Given the description of an element on the screen output the (x, y) to click on. 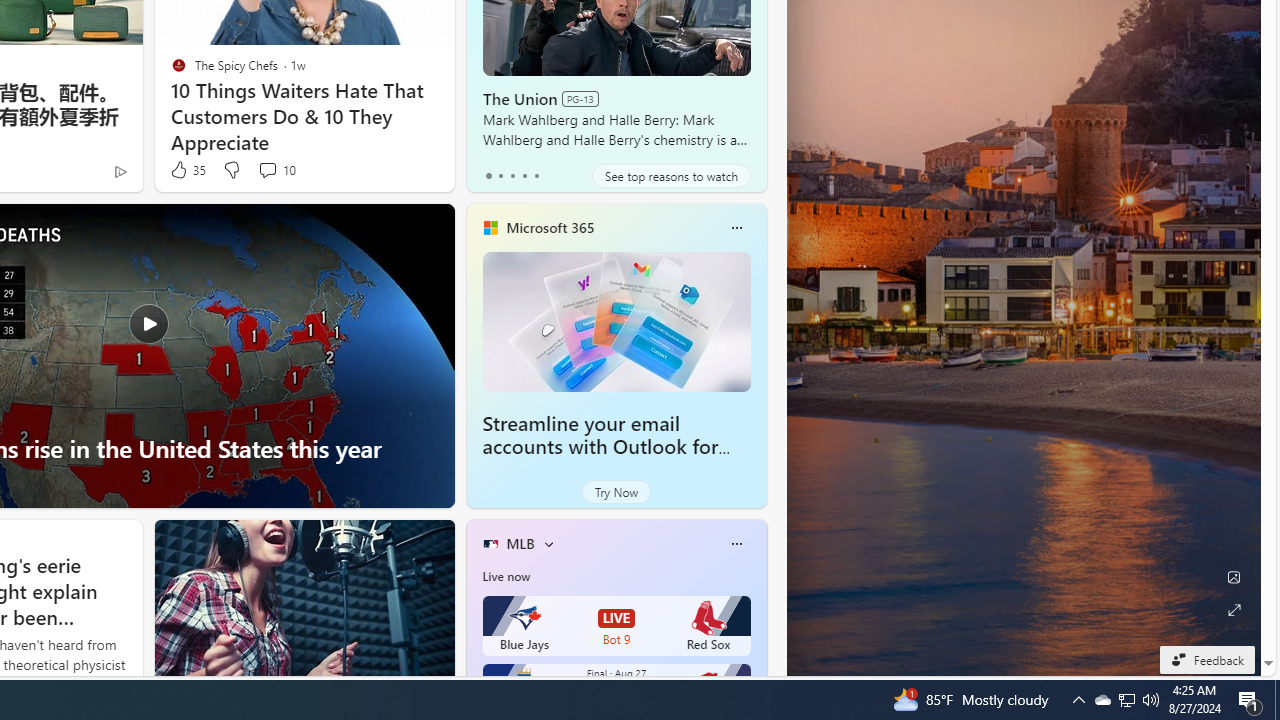
MLB (520, 543)
View comments 10 Comment (267, 169)
Try Now (616, 491)
More interests (548, 543)
